Given the description of an element on the screen output the (x, y) to click on. 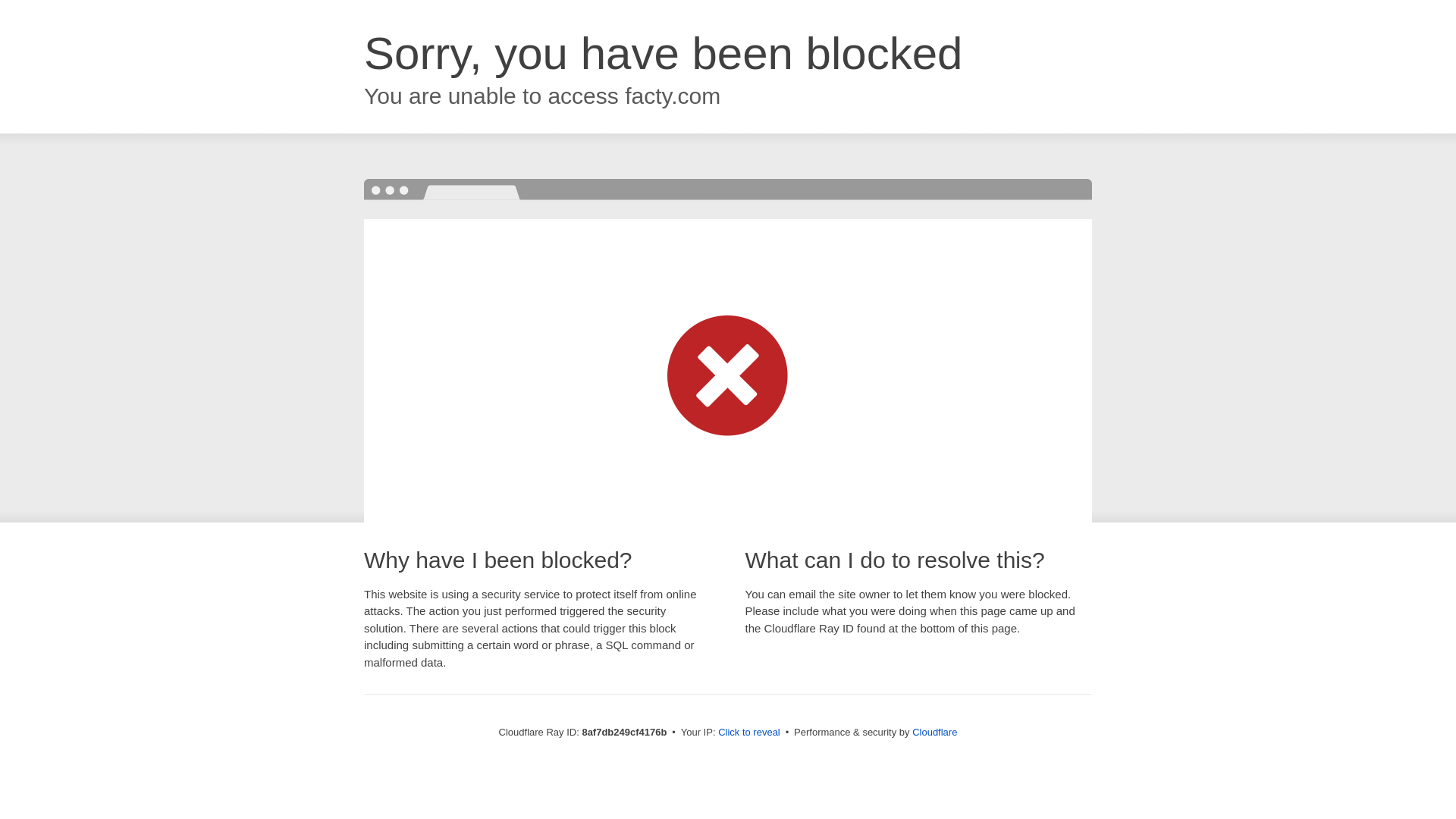
Click to reveal (748, 732)
Cloudflare (934, 731)
